Given the description of an element on the screen output the (x, y) to click on. 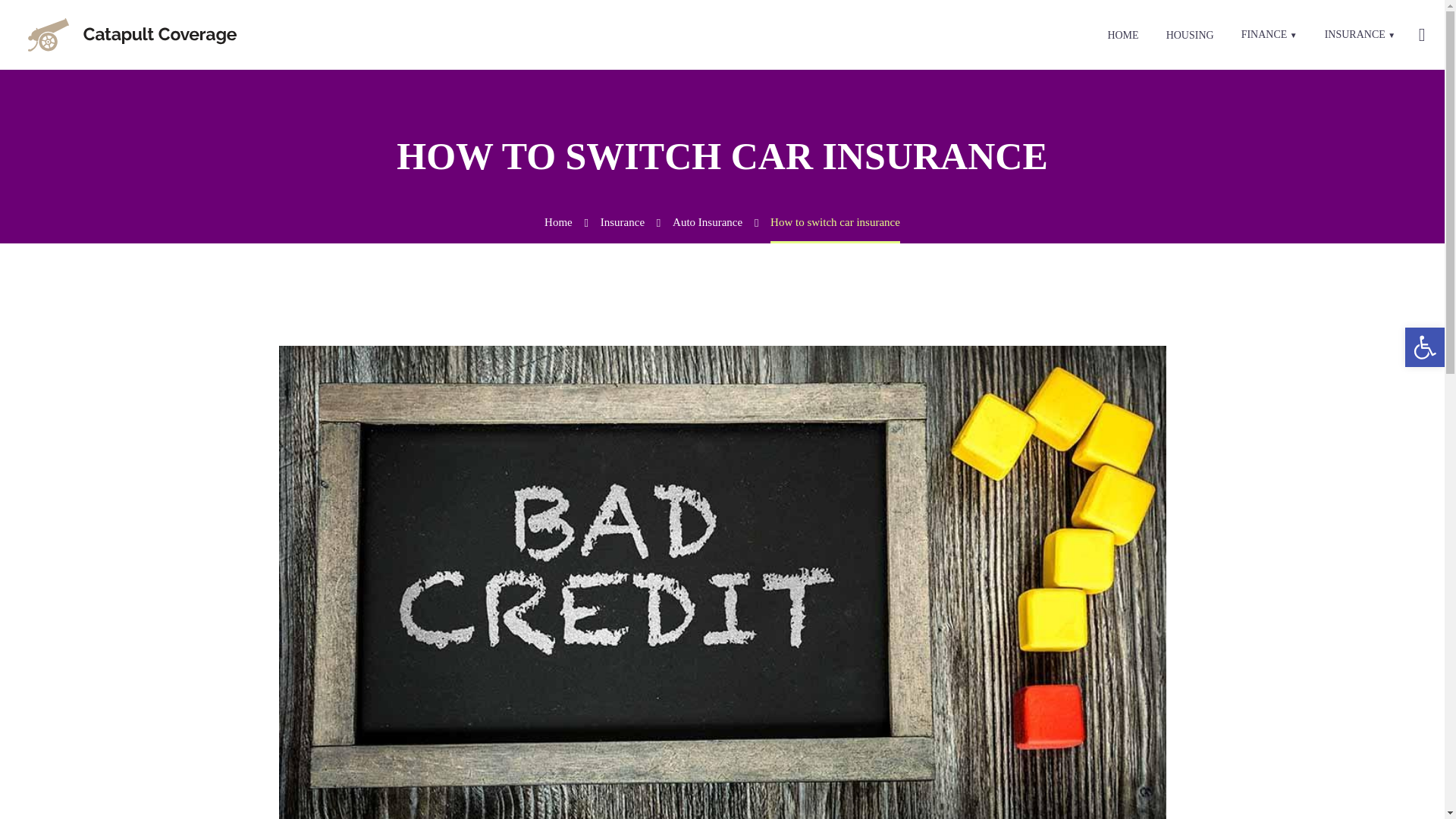
Auto Insurance (707, 222)
Insurance (622, 222)
HOME (1123, 35)
HOUSING (1189, 35)
Accessibility Tools (1424, 346)
Home (558, 222)
